Given the description of an element on the screen output the (x, y) to click on. 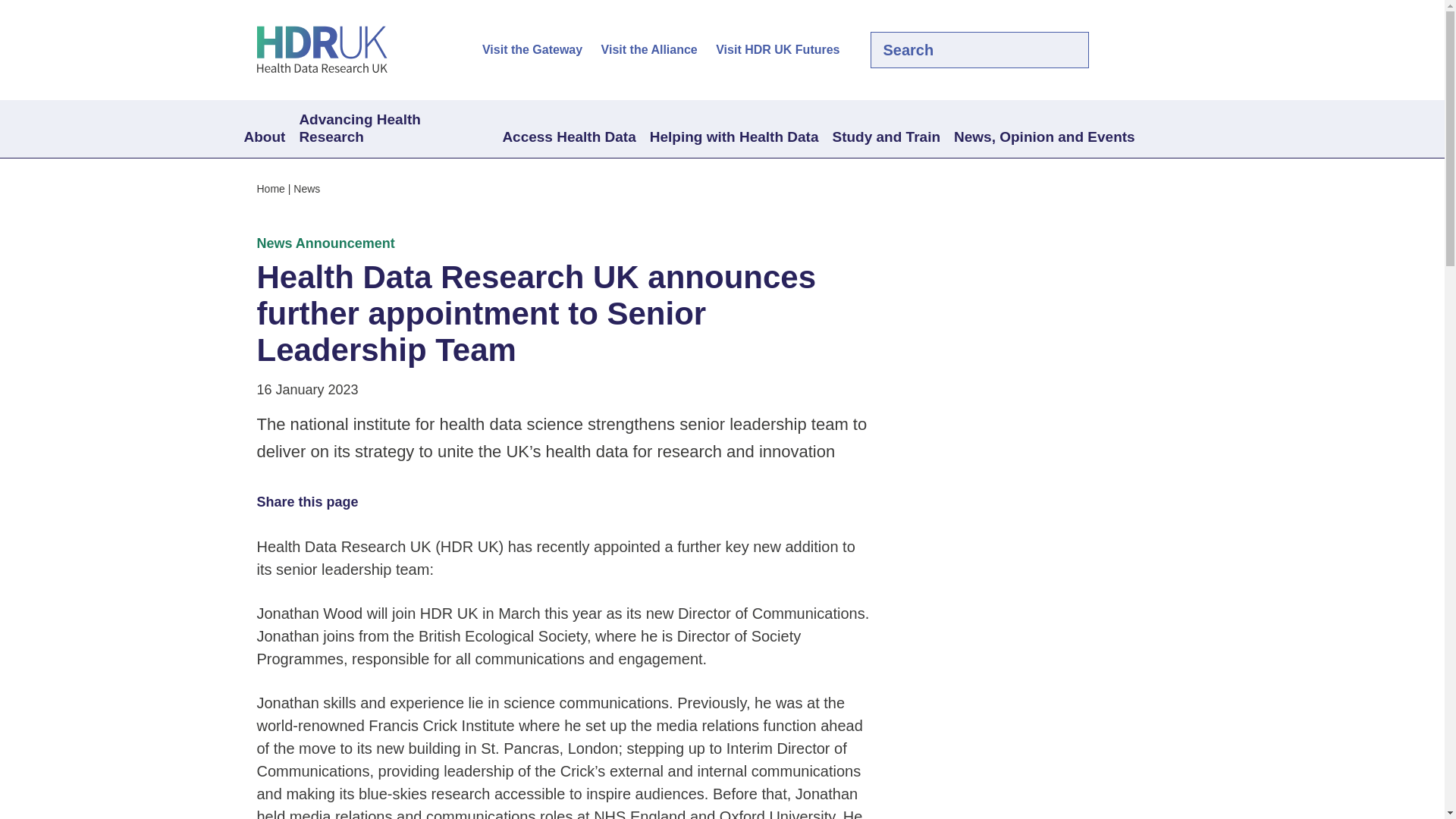
LinkedIn (1152, 50)
About (263, 137)
Visit HDR UK Futures (778, 49)
Helping with Health Data (734, 137)
Visit the Gateway (531, 49)
Advancing Health Research (393, 128)
Access Health Data (568, 137)
Twitter (1126, 50)
Visit the Alliance (649, 49)
YouTube (1179, 50)
